Given the description of an element on the screen output the (x, y) to click on. 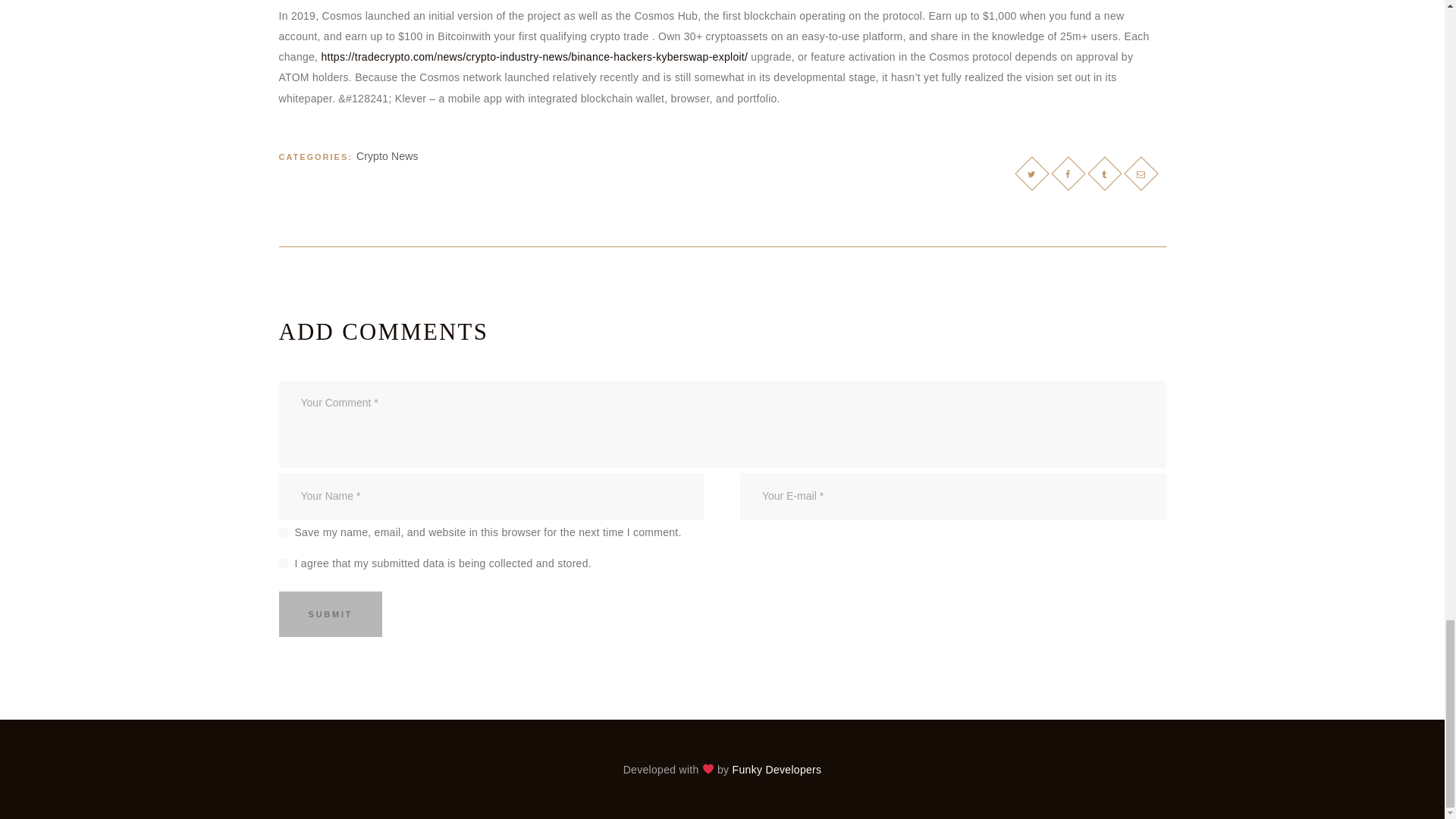
Submit (330, 613)
Crypto News (387, 155)
